Given the description of an element on the screen output the (x, y) to click on. 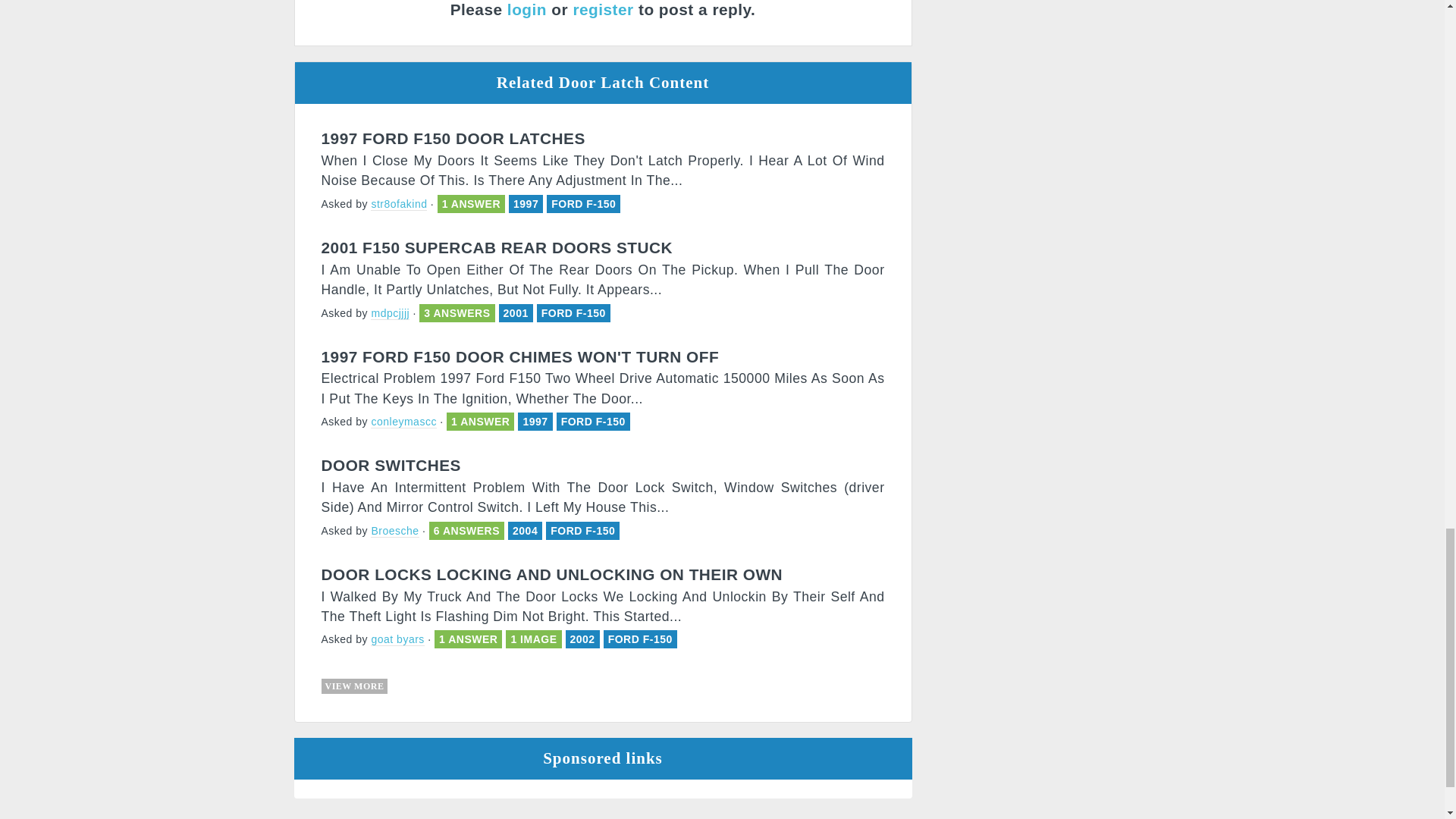
conleymascc (403, 421)
mdpcjjjj (390, 313)
login (526, 9)
FORD F-150 (593, 421)
FORD F-150 (573, 313)
register (602, 9)
FORD F-150 (583, 203)
